Given the description of an element on the screen output the (x, y) to click on. 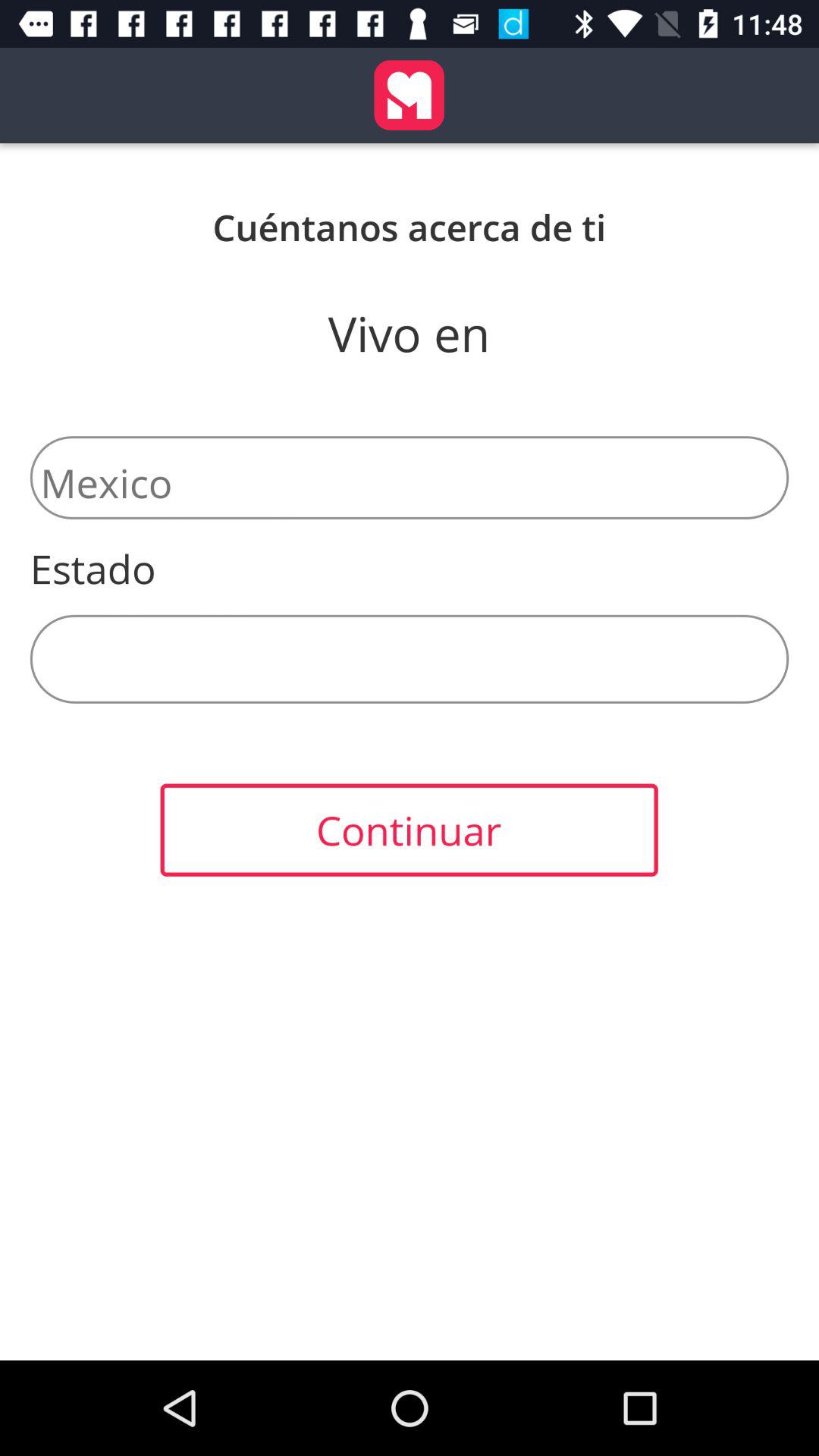
press the icon below vivo en item (409, 477)
